Given the description of an element on the screen output the (x, y) to click on. 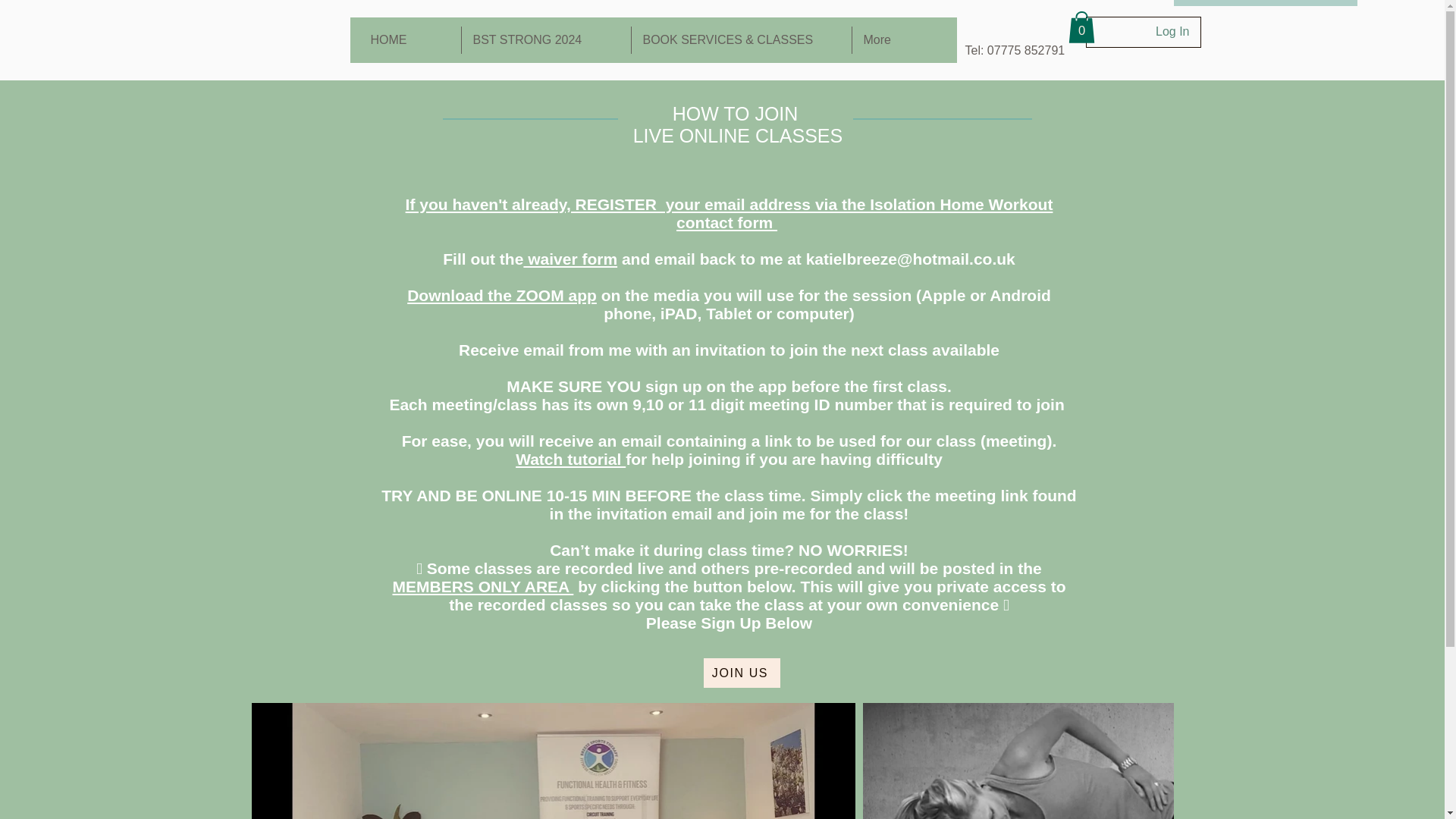
Log In (1171, 31)
BST STRONG 2024 (545, 40)
waiver form (569, 258)
Watch tutorial (570, 458)
HOME (410, 40)
Download the ZOOM app (501, 294)
for help joining if you are having difficulty (784, 458)
MEMBERS ONLY AREA  (482, 586)
JOIN US (741, 672)
